Given the description of an element on the screen output the (x, y) to click on. 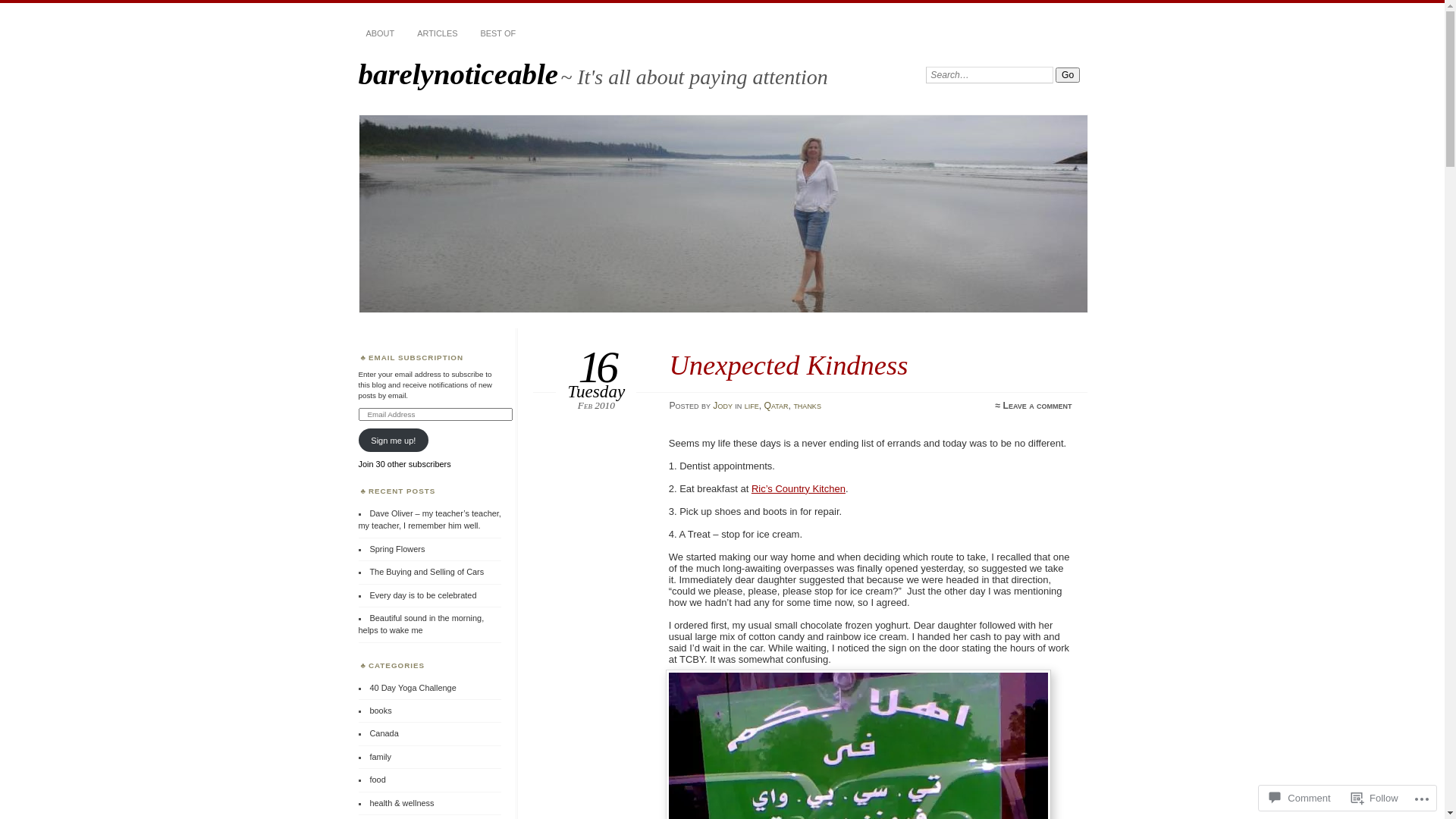
barelynoticeable Element type: text (457, 73)
Beautiful sound in the morning, helps to wake me Element type: text (420, 623)
Go Element type: text (1067, 74)
ABOUT Element type: text (379, 33)
Sign me up! Element type: text (392, 439)
food Element type: text (377, 779)
Spring Flowers Element type: text (396, 548)
40 Day Yoga Challenge Element type: text (412, 687)
family Element type: text (380, 756)
Follow Element type: text (1374, 797)
Comment Element type: text (1299, 797)
life Element type: text (751, 405)
thanks Element type: text (807, 405)
Qatar Element type: text (775, 405)
health & wellness Element type: text (401, 802)
Every day is to be celebrated Element type: text (422, 594)
The Buying and Selling of Cars Element type: text (426, 571)
ARTICLES Element type: text (436, 33)
Leave a comment Element type: text (1037, 405)
Canada Element type: text (383, 732)
BEST OF Element type: text (497, 33)
books Element type: text (380, 710)
barelynoticeable Element type: hover (722, 213)
Jody Element type: text (722, 405)
